Given the description of an element on the screen output the (x, y) to click on. 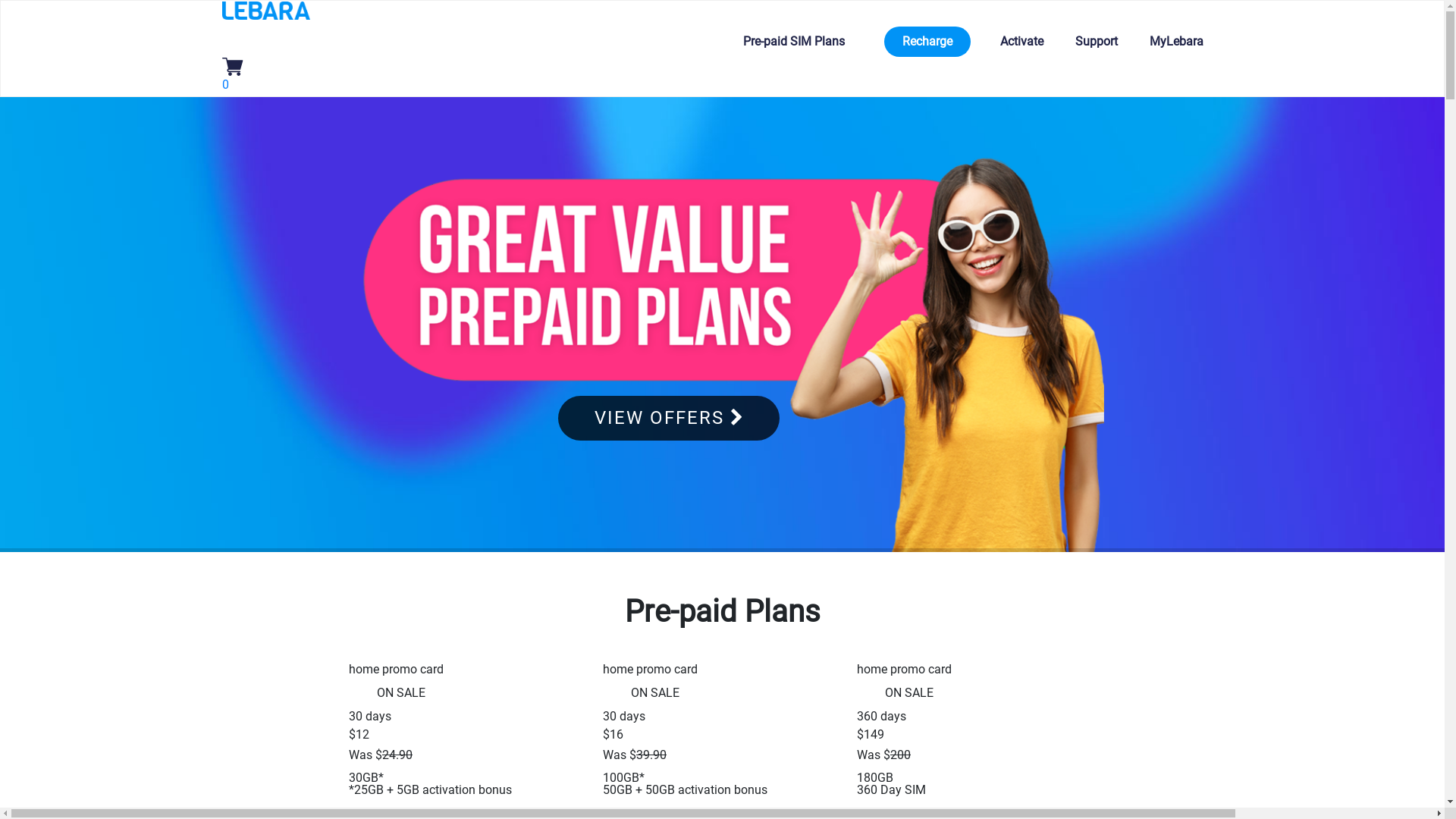
MyLebara Element type: text (1176, 41)
Activate Element type: text (1020, 41)
Pre-paid SIM Plans Element type: text (798, 41)
Support Element type: text (1096, 41)
Lebara Element type: hover (265, 9)
VIEW OFFERS Element type: text (668, 417)
Recharge Element type: text (927, 41)
0 Element type: text (231, 75)
